Given the description of an element on the screen output the (x, y) to click on. 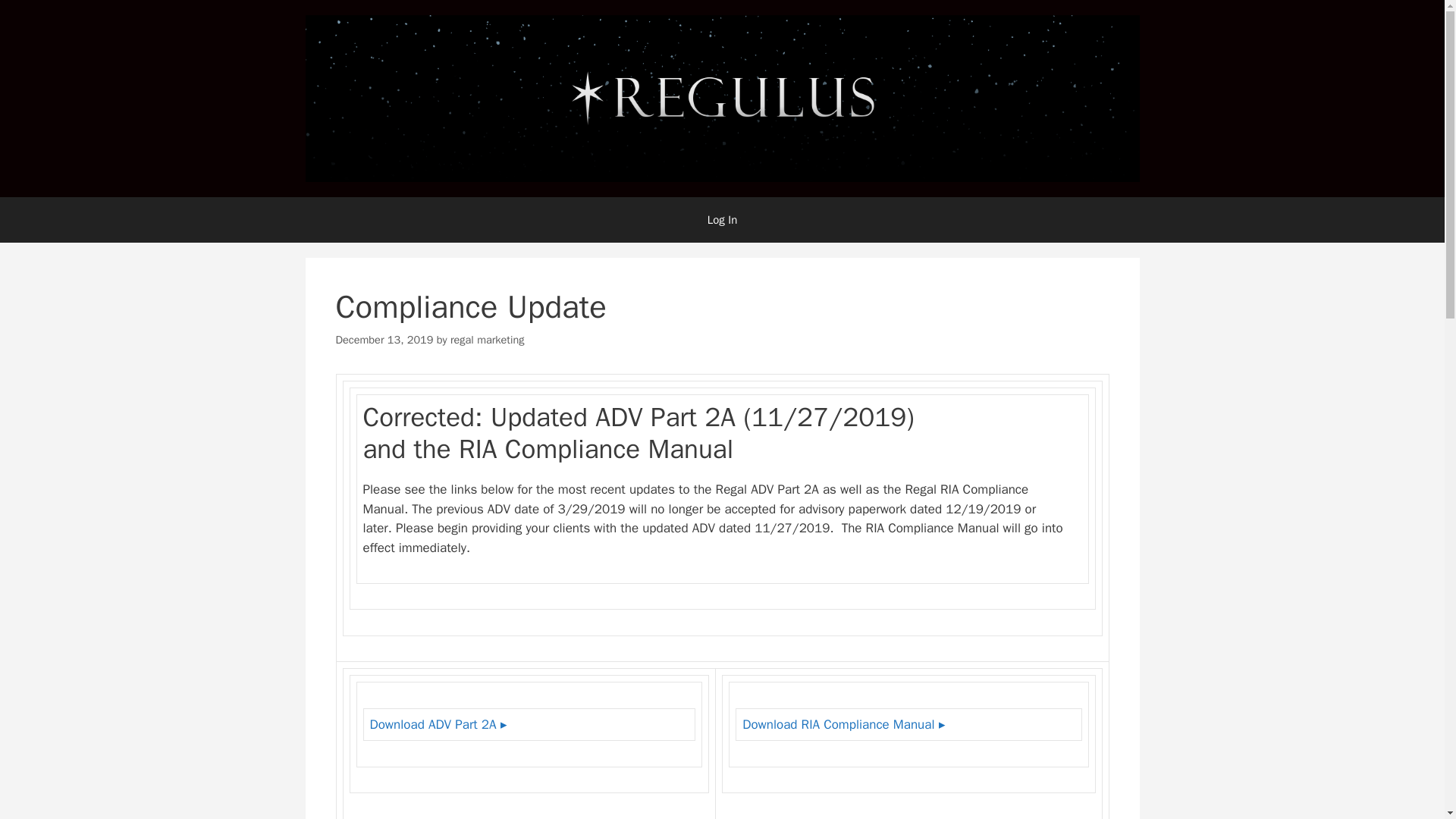
View all posts by regal marketing (486, 339)
Regulus (721, 97)
regal marketing (486, 339)
Log In (722, 219)
